Given the description of an element on the screen output the (x, y) to click on. 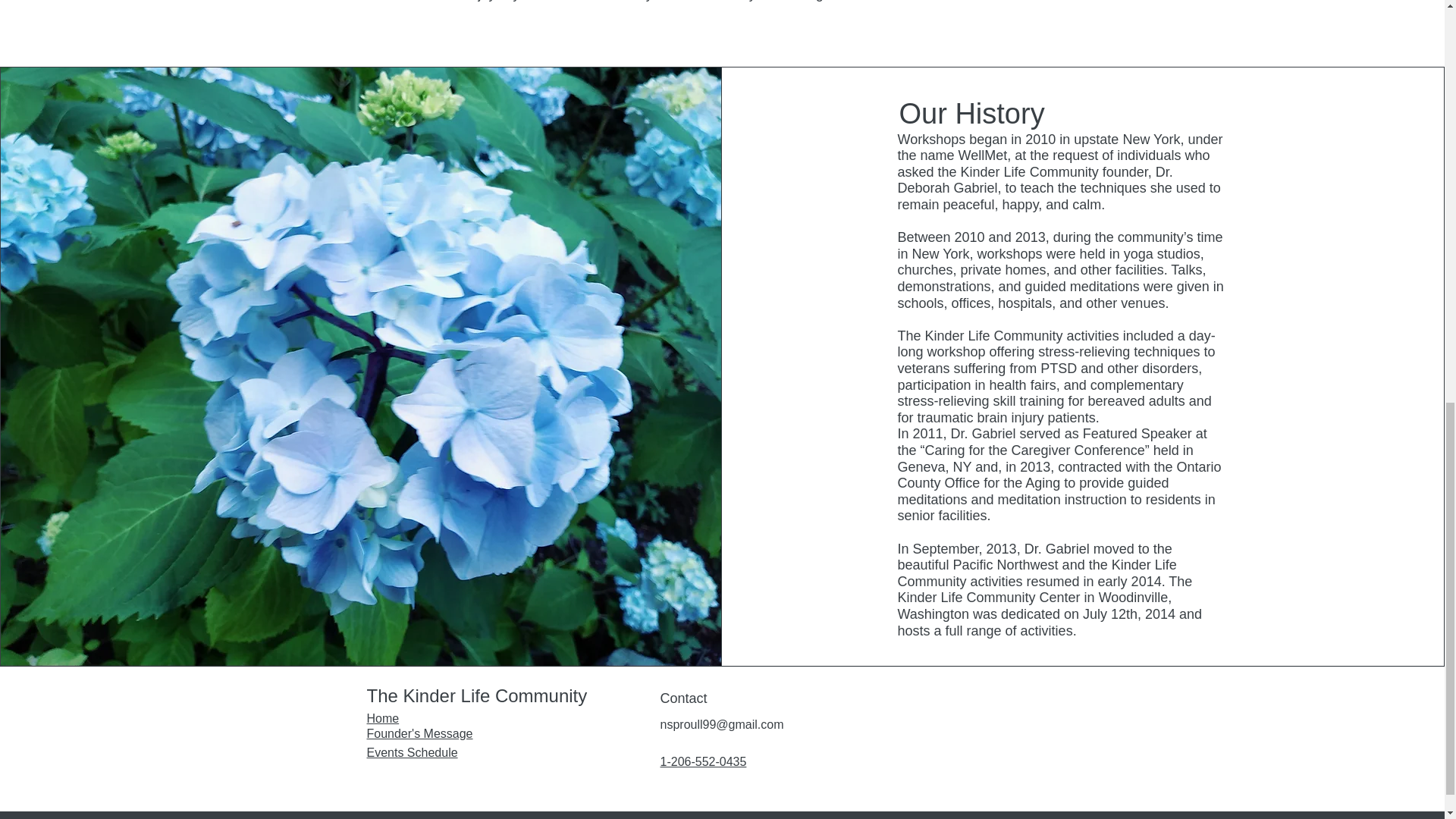
1-206-552-0435 (702, 761)
Founder's Message (419, 733)
The Kinder Life Community (477, 695)
Events Schedule (412, 752)
Home (382, 717)
